Given the description of an element on the screen output the (x, y) to click on. 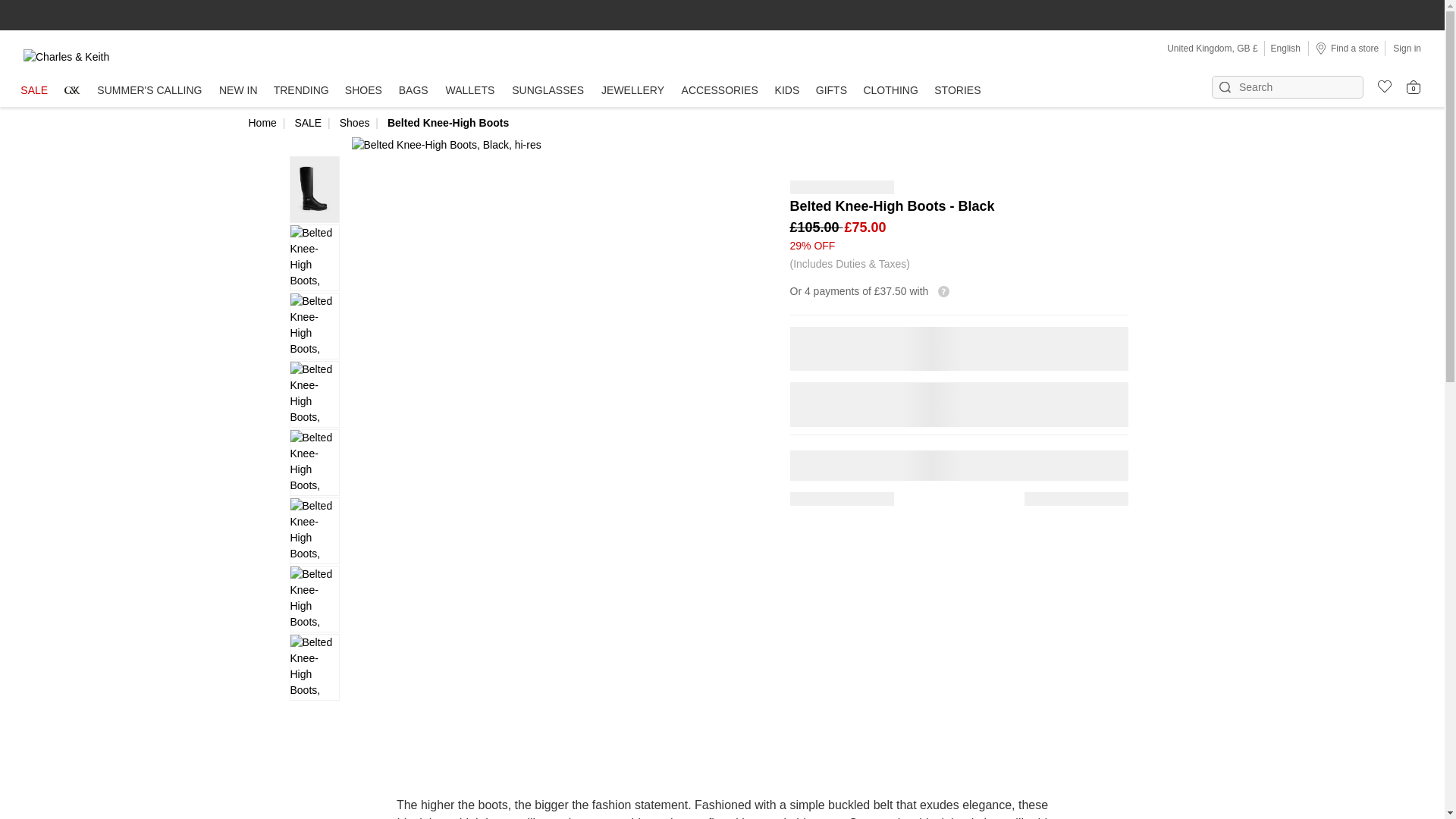
SALE (33, 91)
JEWELLERY (632, 91)
Sign in (1407, 48)
GIFTS (831, 91)
United Kingdom, (1201, 48)
SUMMER'S CALLING (149, 91)
View Cart (1413, 87)
KIDS (787, 91)
WALLETS (469, 91)
SUNGLASSES (547, 91)
ACCESSORIES (719, 91)
STORIES (957, 91)
SHOES (363, 91)
Find a store (1346, 48)
TRENDING (300, 91)
